Given the description of an element on the screen output the (x, y) to click on. 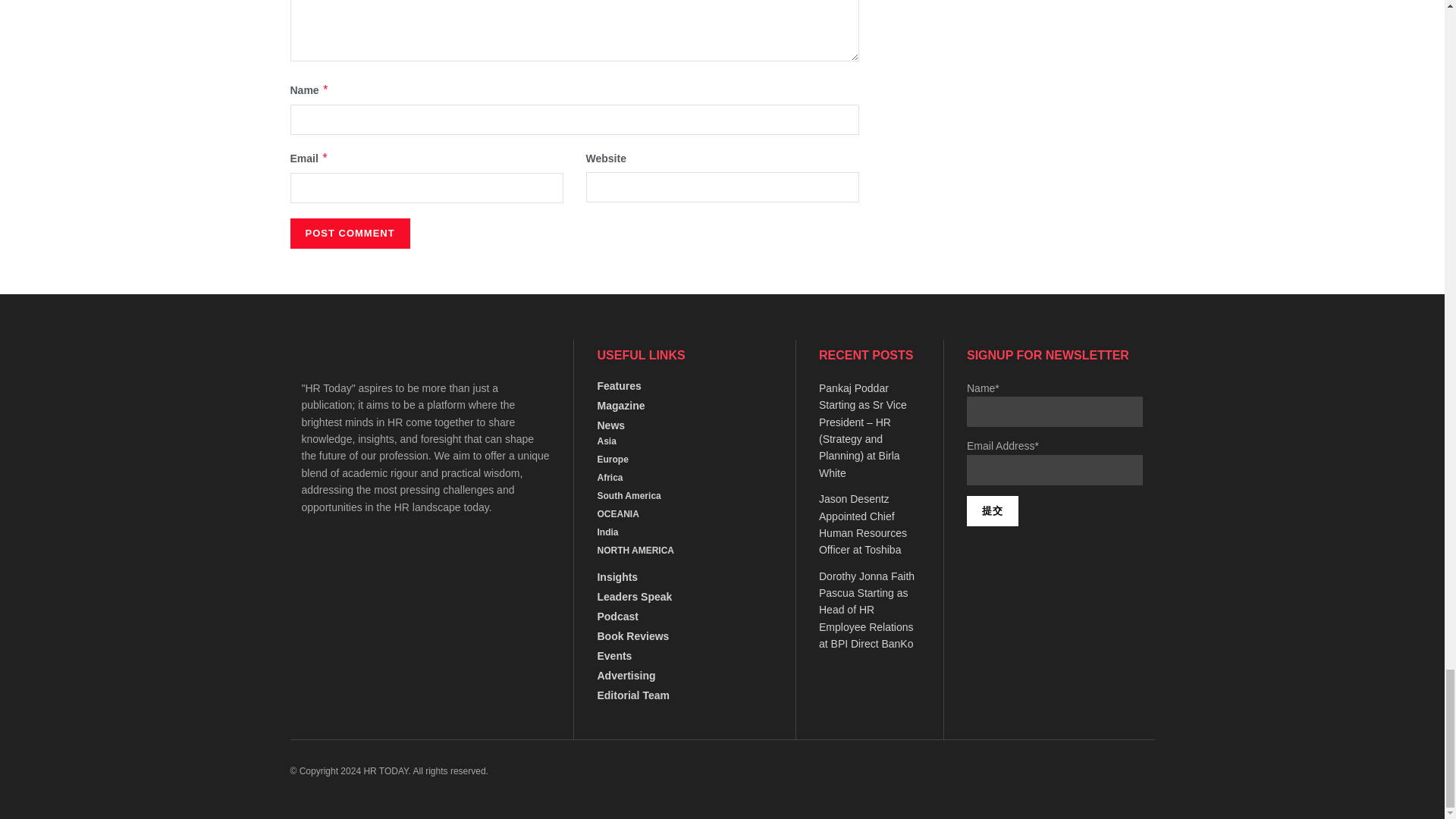
Post Comment (349, 233)
